Given the description of an element on the screen output the (x, y) to click on. 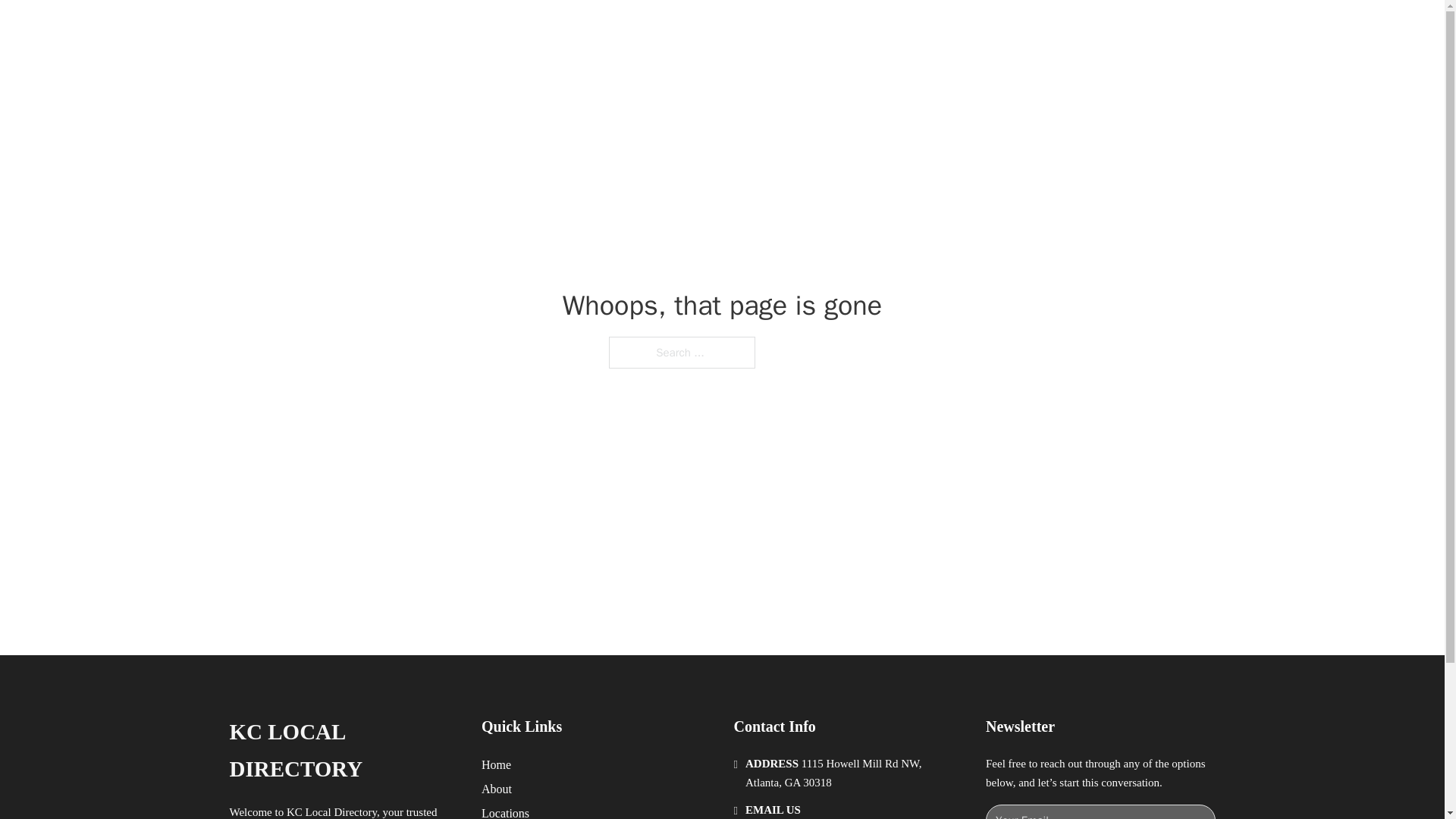
Locations (505, 811)
About (496, 788)
Home (496, 764)
KC LOCAL DIRECTORY (343, 750)
KC LOCAL DIRECTORY (419, 28)
